Given the description of an element on the screen output the (x, y) to click on. 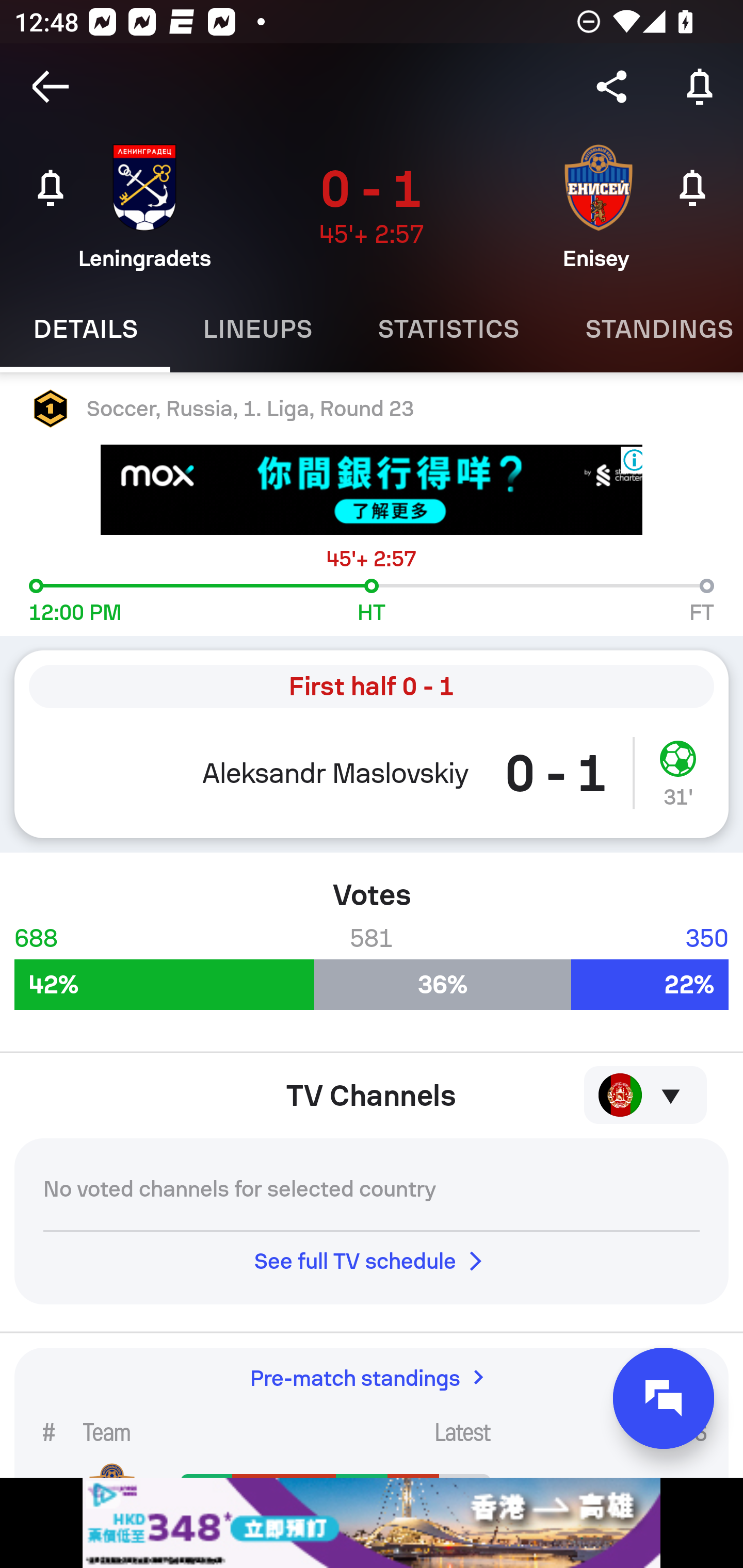
Navigate up (50, 86)
Lineups LINEUPS (257, 329)
Statistics STATISTICS (448, 329)
Standings STANDINGS (647, 329)
Soccer, Russia, 1. Liga, Round 23 (371, 409)
First half 0 - 1 (371, 686)
Aleksandr Maslovskiy  0  -  1  Goal 31' (371, 780)
See full TV schedule (371, 1261)
CHAT (663, 1398)
2ph9hx2a_320x50 (371, 1522)
